Given the description of an element on the screen output the (x, y) to click on. 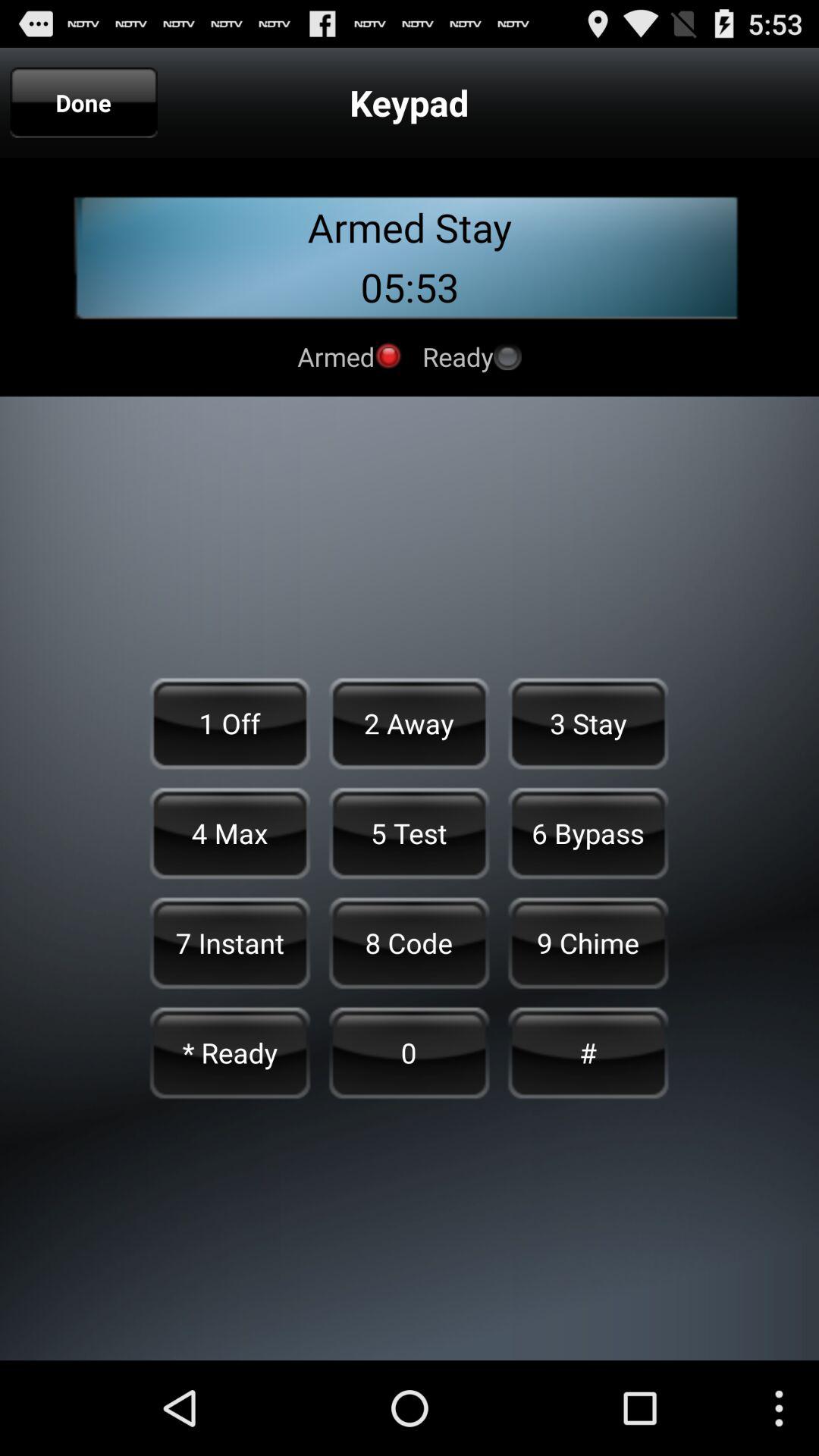
click on ready (507, 356)
